Given the description of an element on the screen output the (x, y) to click on. 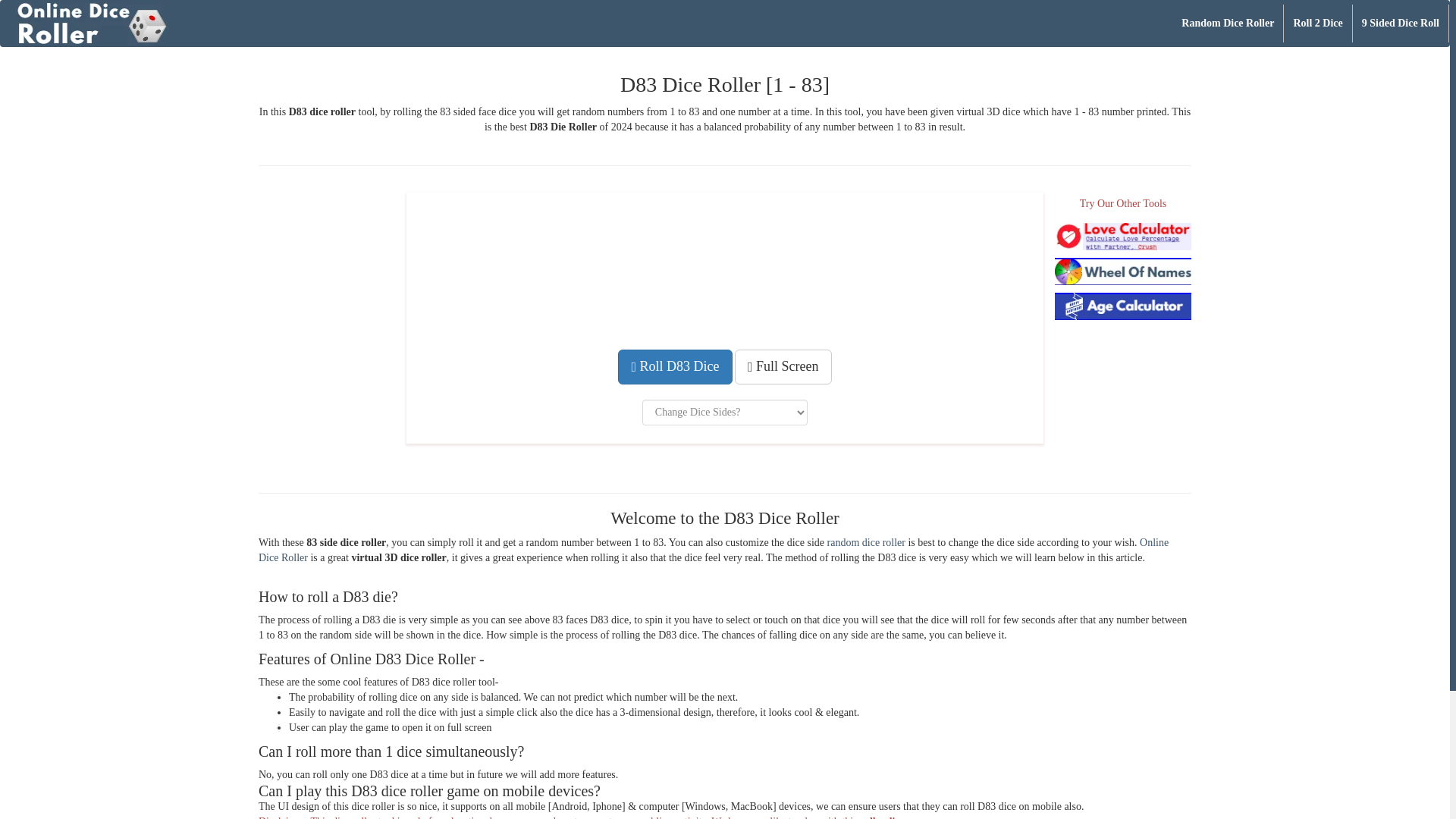
Full Screen (783, 366)
Online Dice Roller (714, 550)
Roll D83 Dice (674, 366)
9 Sided Dice Roll (1400, 23)
Random Dice Roller (866, 542)
Random Dice Roller (1227, 23)
Random Dice Roller (1227, 23)
Roll 2 Dice (1317, 23)
9 Sided Dice Roller (1400, 23)
random dice roller (866, 542)
